Given the description of an element on the screen output the (x, y) to click on. 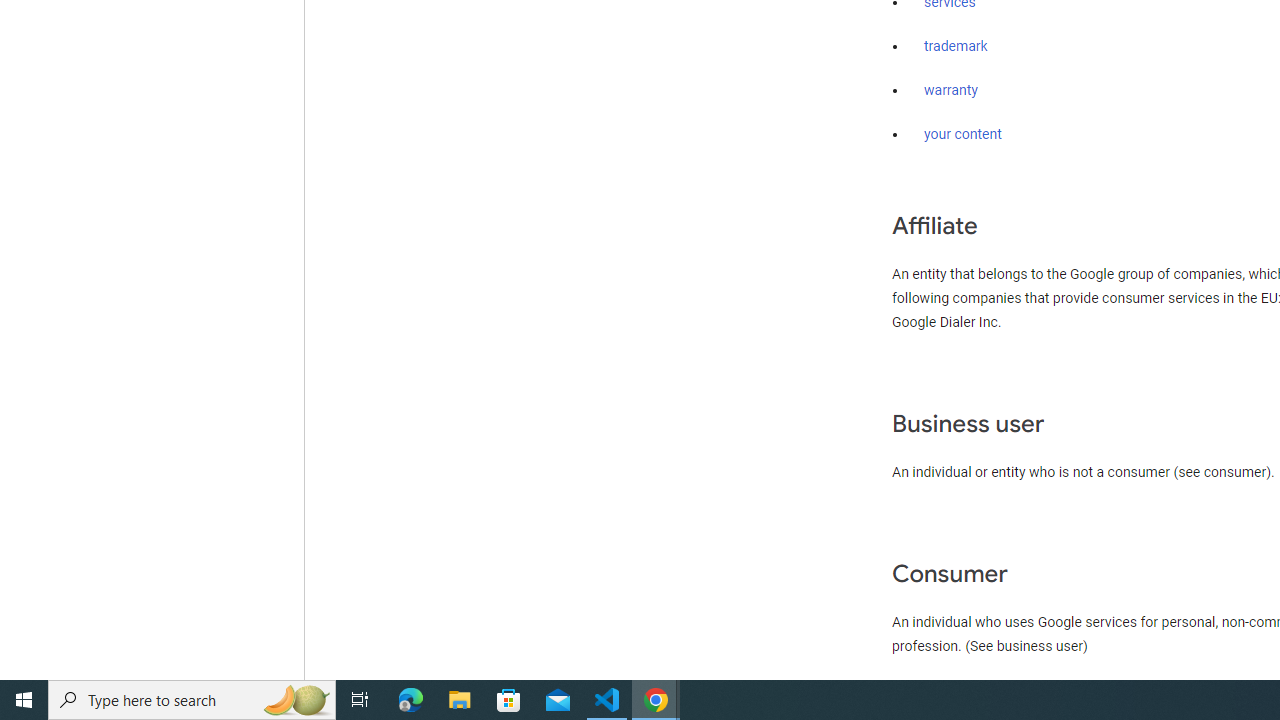
your content (963, 134)
warranty (950, 91)
trademark (956, 47)
